Given the description of an element on the screen output the (x, y) to click on. 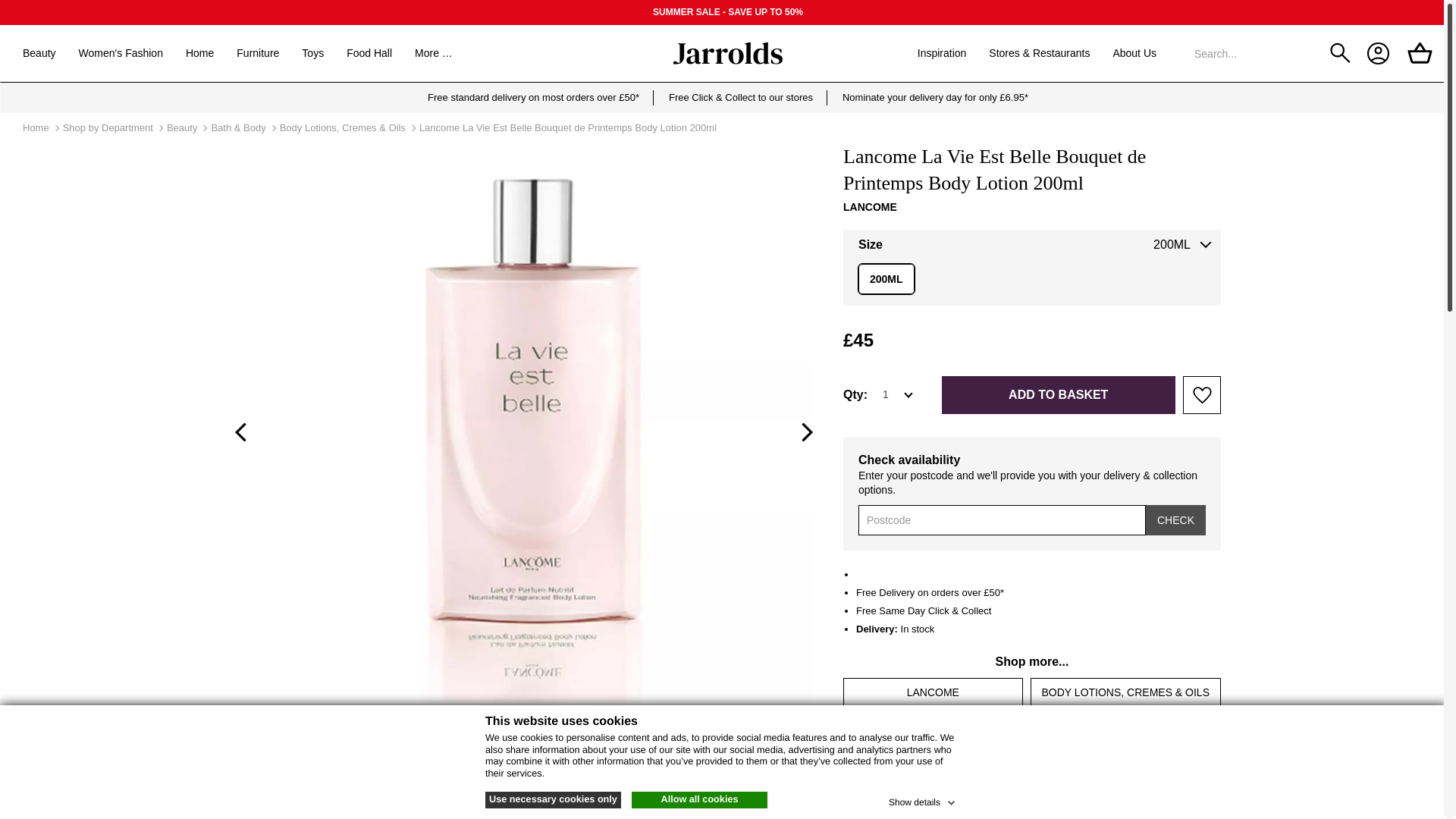
Use necessary cookies only (552, 799)
Show details (923, 799)
Allow all cookies (699, 799)
